Given the description of an element on the screen output the (x, y) to click on. 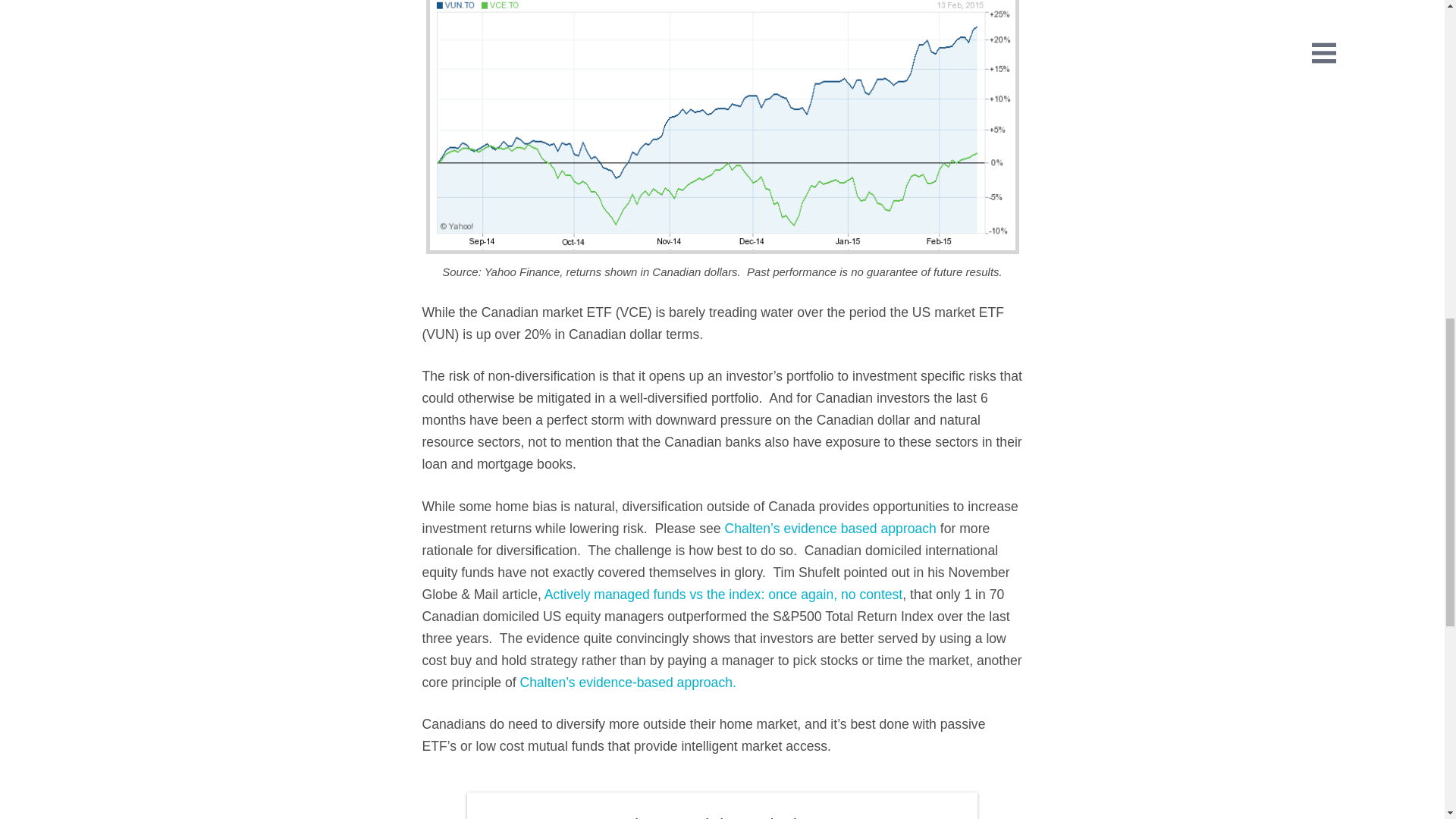
Actively managed funds vs the index: once again, no contest (723, 594)
